Given the description of an element on the screen output the (x, y) to click on. 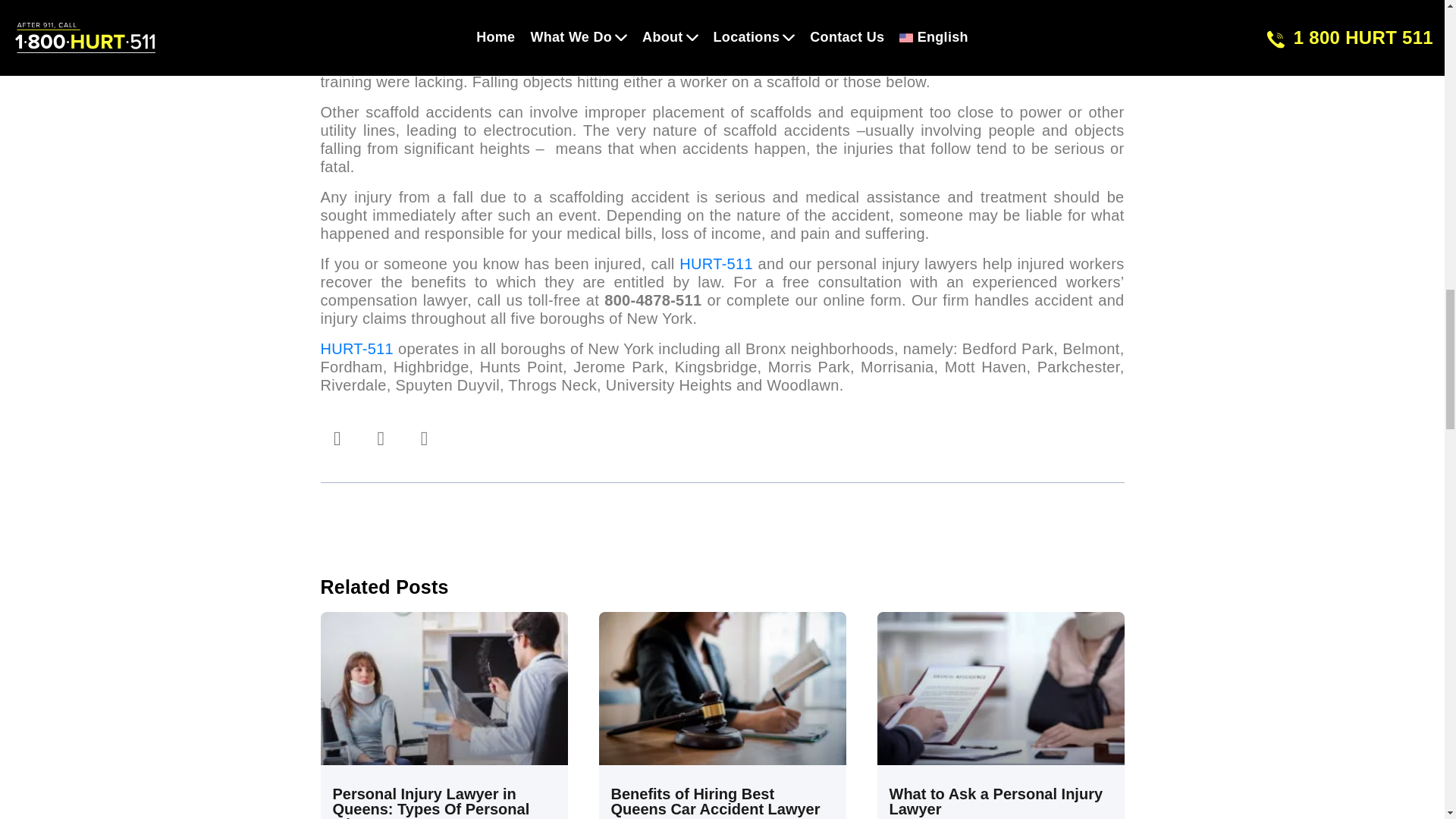
HURT-511 (715, 263)
Benefits of Hiring Best Queens Car Accident Lawyer (716, 801)
What to Ask a Personal Injury Lawyer (995, 801)
HURT-511 (356, 348)
